Given the description of an element on the screen output the (x, y) to click on. 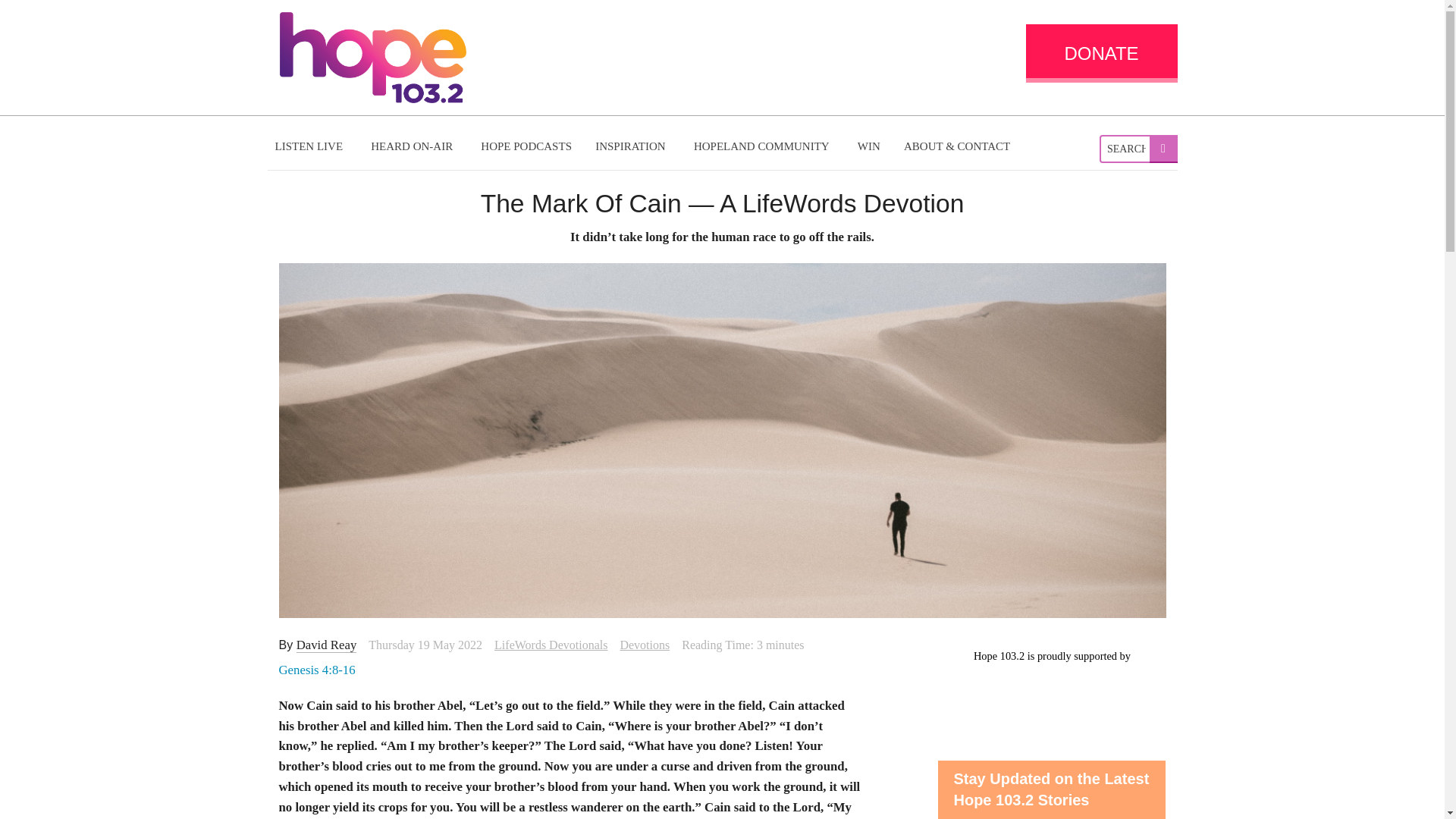
HOPE PODCASTS (526, 146)
INSPIRATION (633, 146)
DONATE (1100, 53)
LISTEN LIVE (310, 146)
HOPELAND COMMUNITY (763, 146)
HEARD ON-AIR (413, 146)
